Given the description of an element on the screen output the (x, y) to click on. 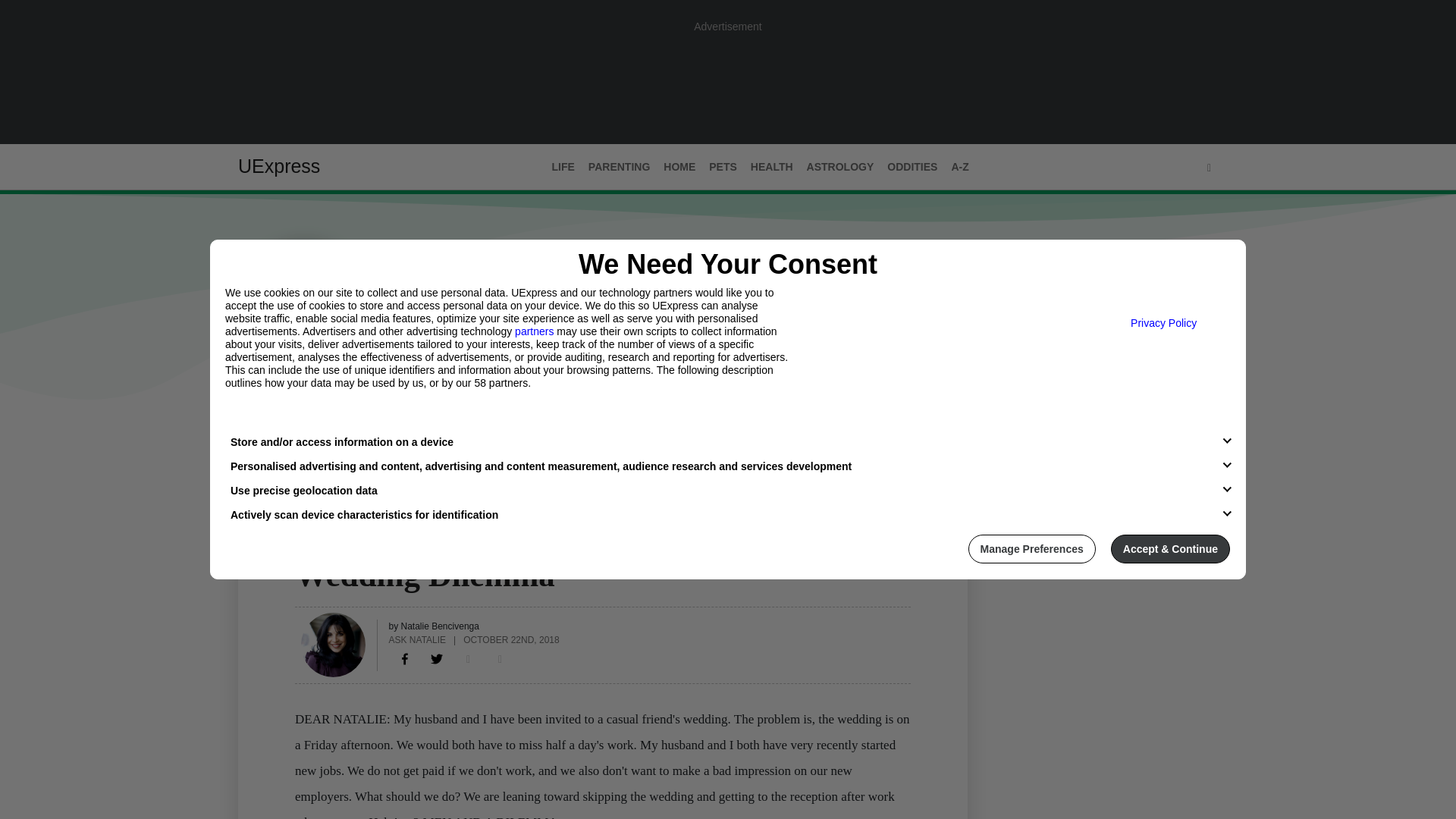
UExpress (279, 166)
HEALTH (771, 166)
ODDITIES (911, 166)
Latest (256, 431)
PETS (722, 166)
Wedding Dilemma (404, 658)
LIFE (562, 166)
LIFE (306, 545)
About (309, 431)
ASTROLOGY (839, 166)
PARENTING (618, 166)
Archives (371, 431)
ASK NATALIE (416, 639)
HOME (678, 166)
A-Z (959, 166)
